Given the description of an element on the screen output the (x, y) to click on. 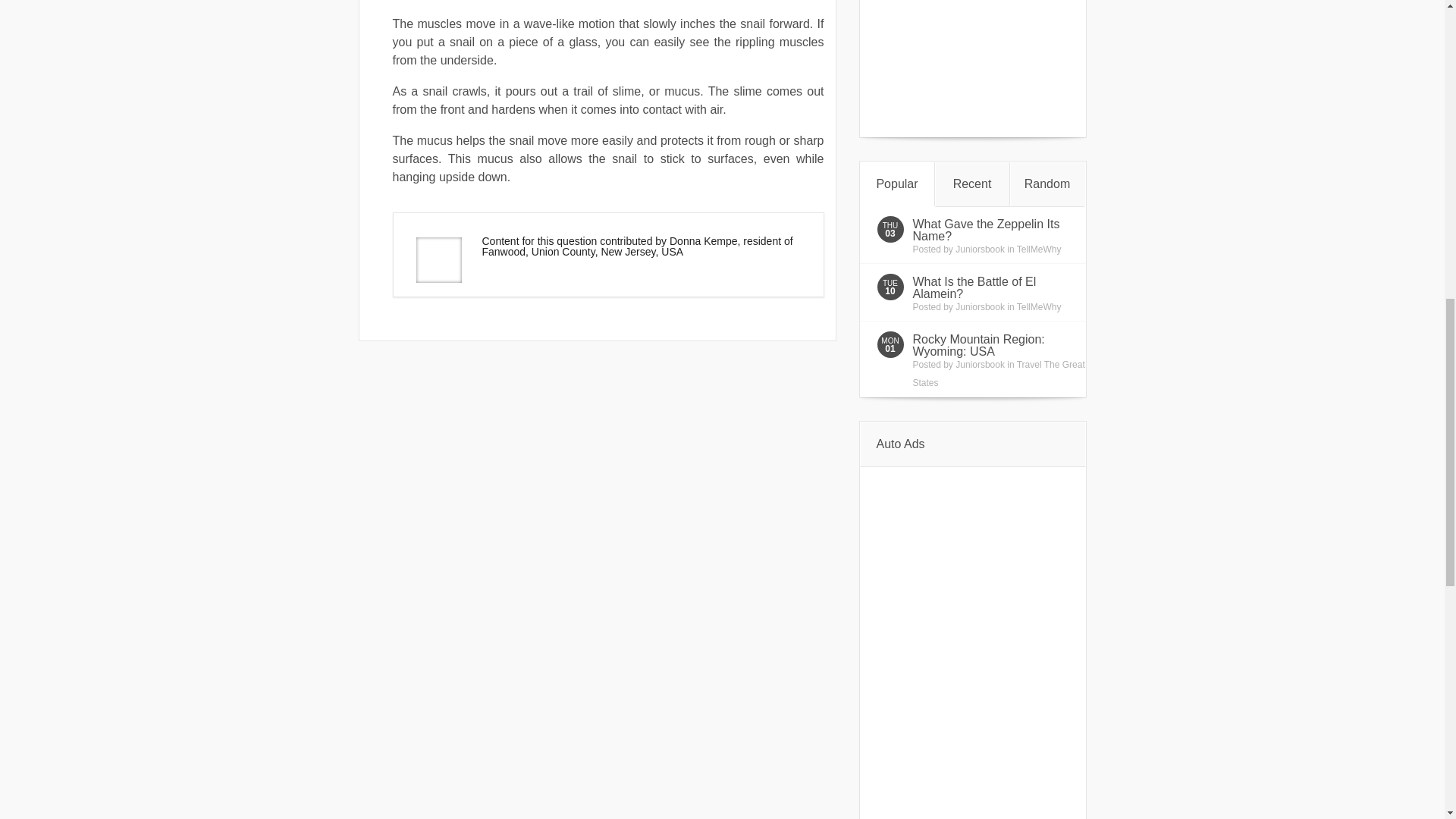
Posts by Juniorsbook (979, 364)
Posts by Juniorsbook (979, 307)
Posts by Juniorsbook (979, 249)
